Given the description of an element on the screen output the (x, y) to click on. 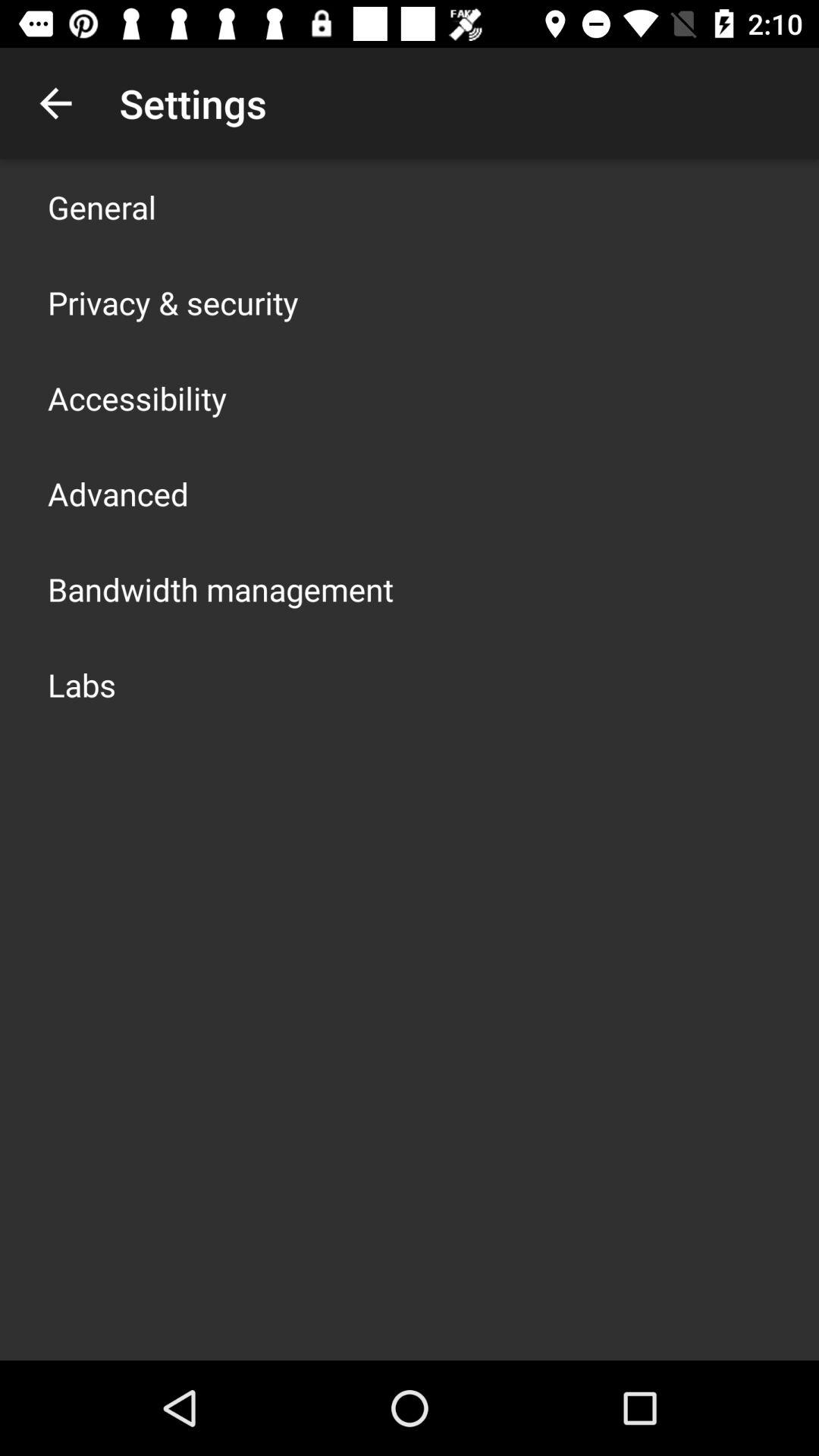
tap item next to settings app (55, 103)
